Given the description of an element on the screen output the (x, y) to click on. 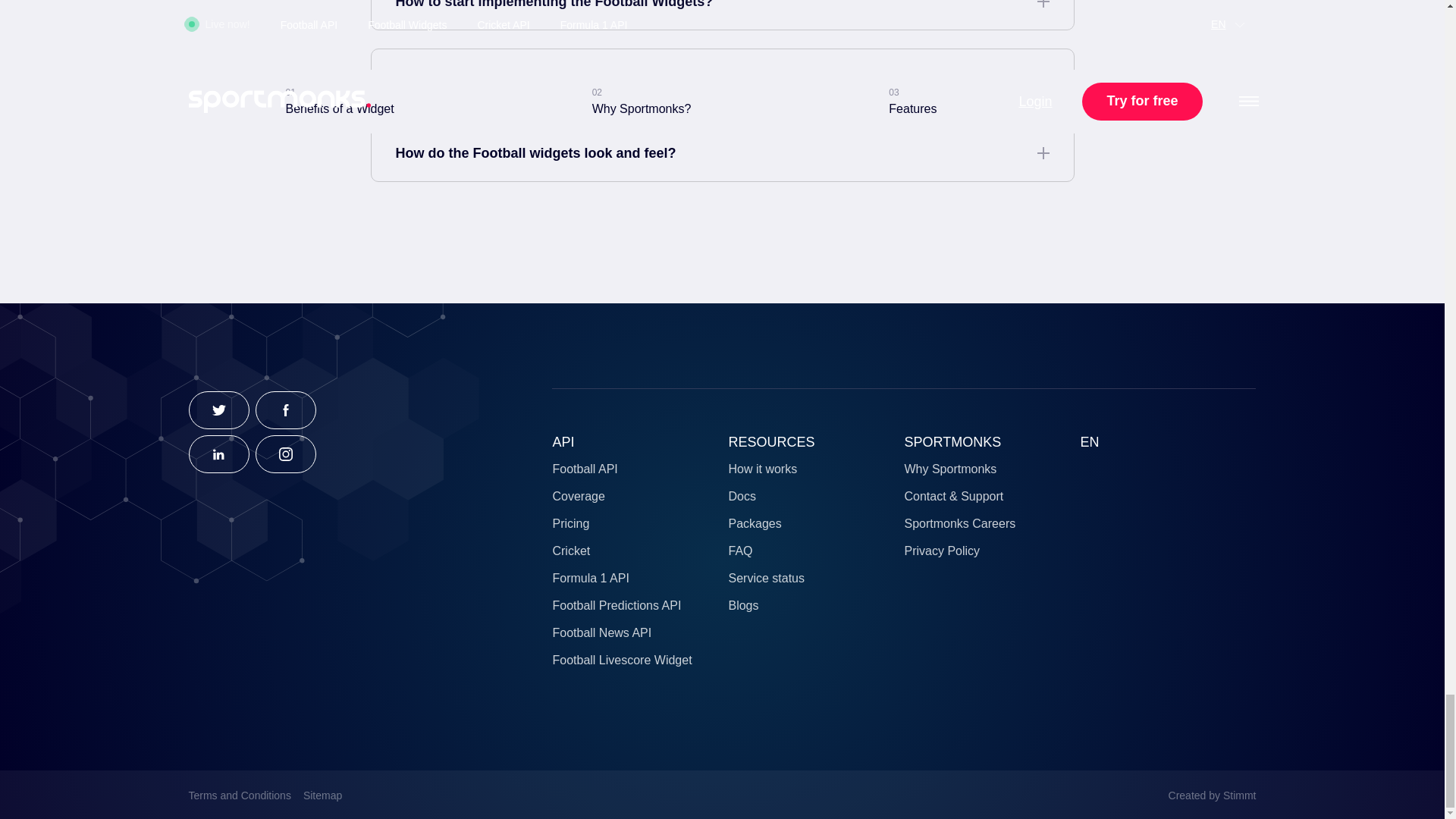
EN (1089, 441)
